Given the description of an element on the screen output the (x, y) to click on. 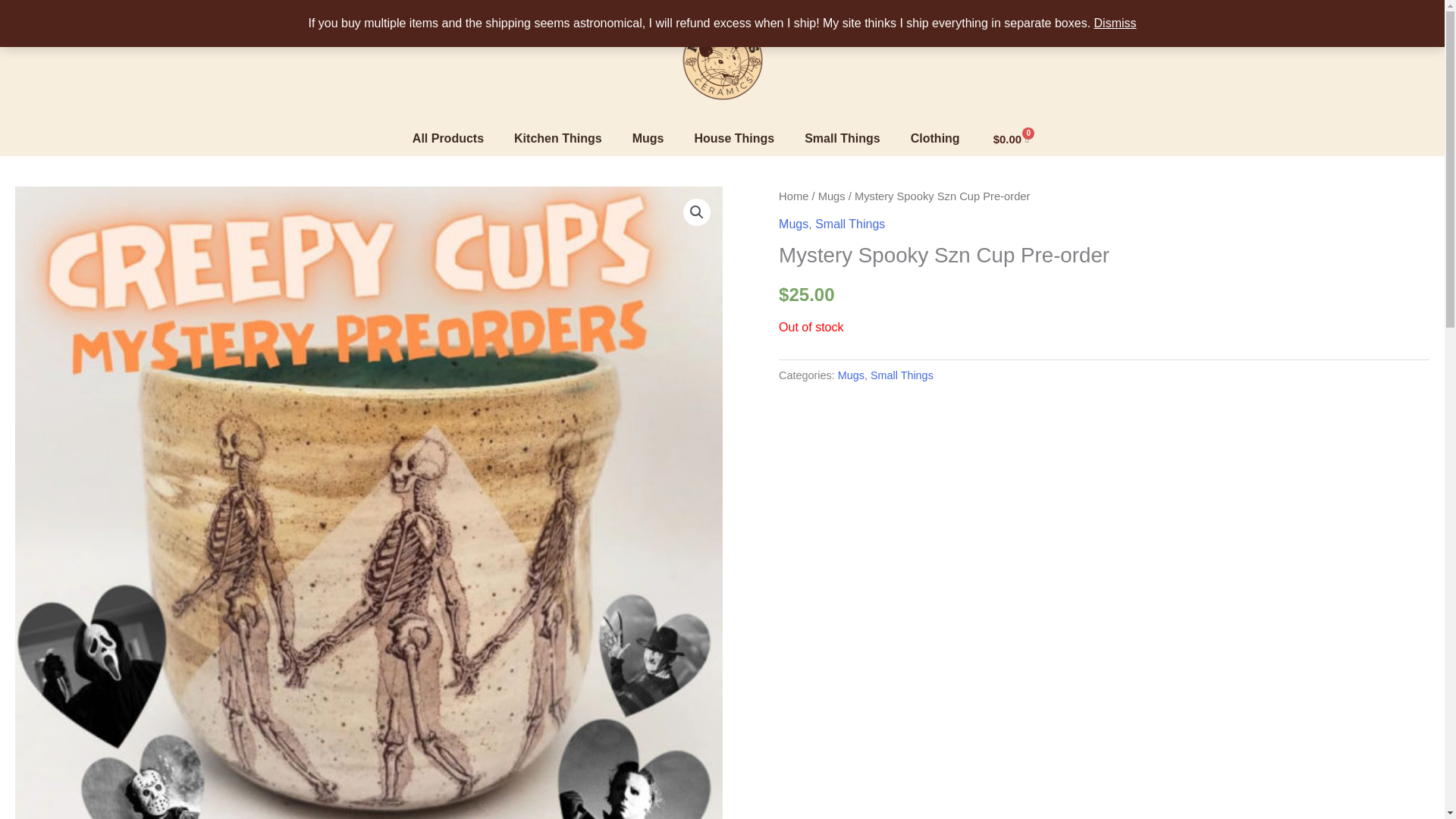
Small Things (901, 375)
Mugs (648, 138)
Kitchen Things (558, 138)
Mugs (831, 196)
Mugs (793, 223)
Clothing (935, 138)
Home (793, 196)
Small Things (850, 223)
House Things (733, 138)
Small Things (842, 138)
